Given the description of an element on the screen output the (x, y) to click on. 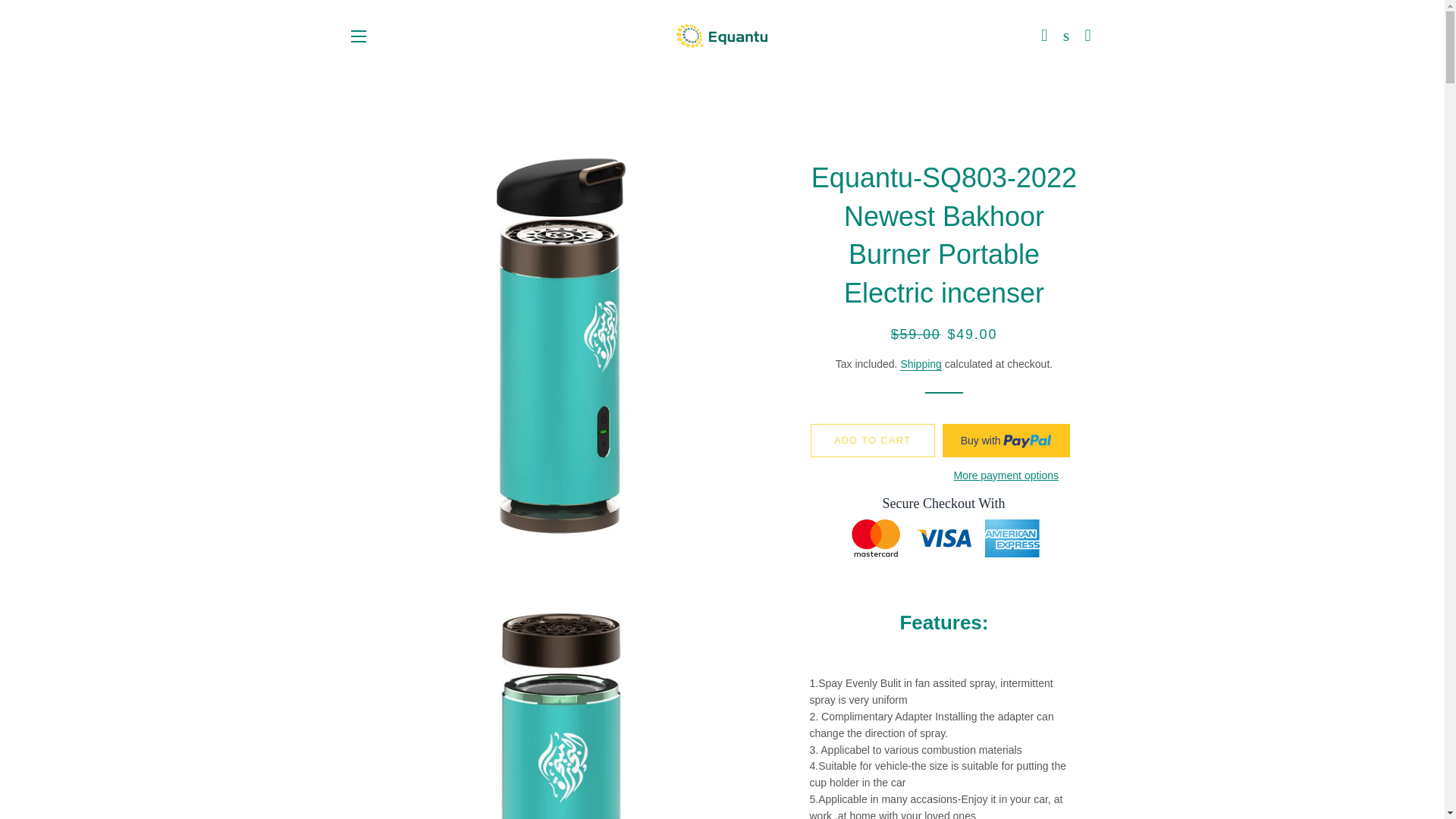
Shipping (920, 364)
ADD TO CART (872, 440)
SITE NAVIGATION (358, 36)
trust-badges-widget (943, 532)
More payment options (1006, 475)
